Given the description of an element on the screen output the (x, y) to click on. 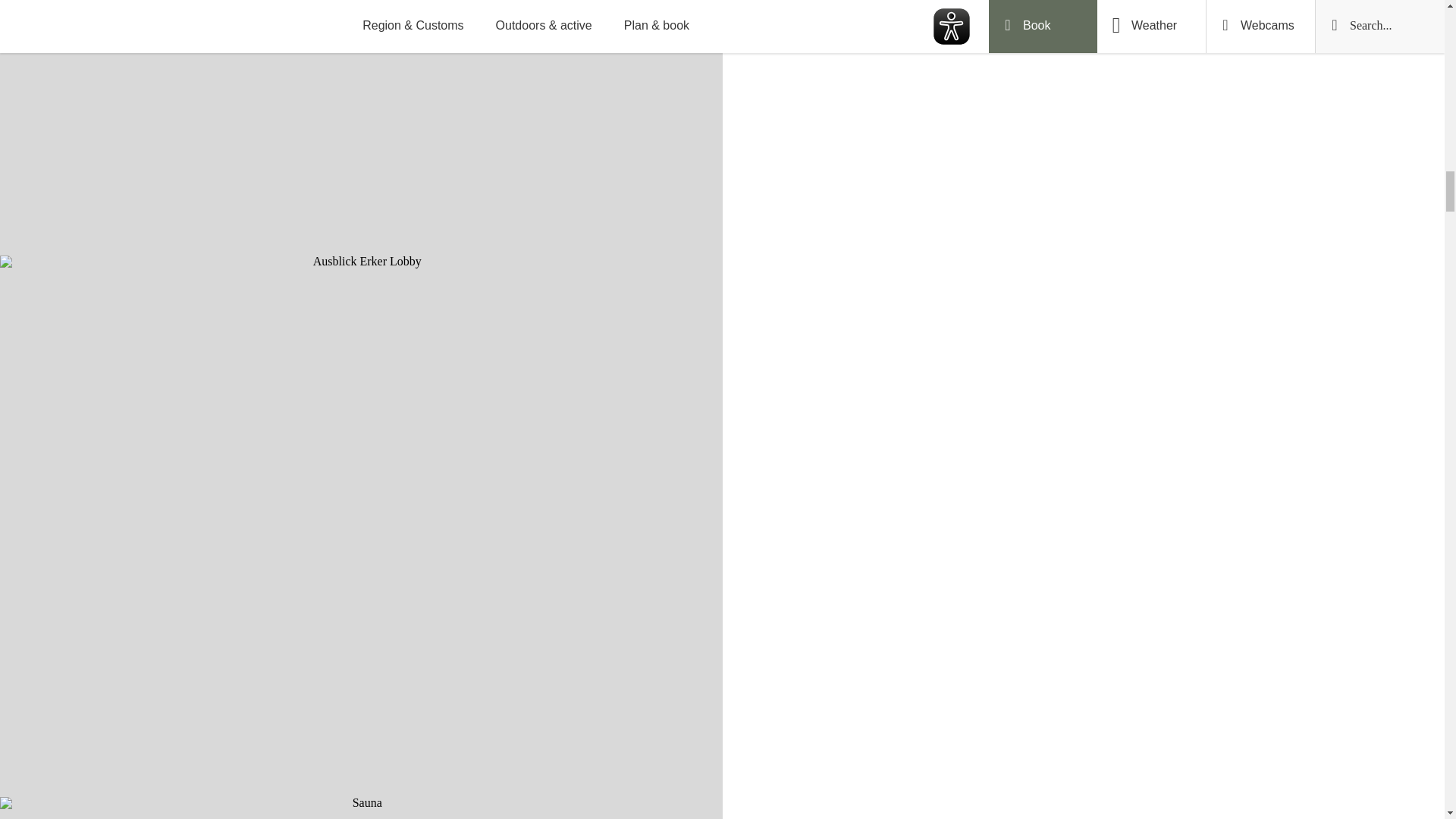
Sauna (361, 807)
